Given the description of an element on the screen output the (x, y) to click on. 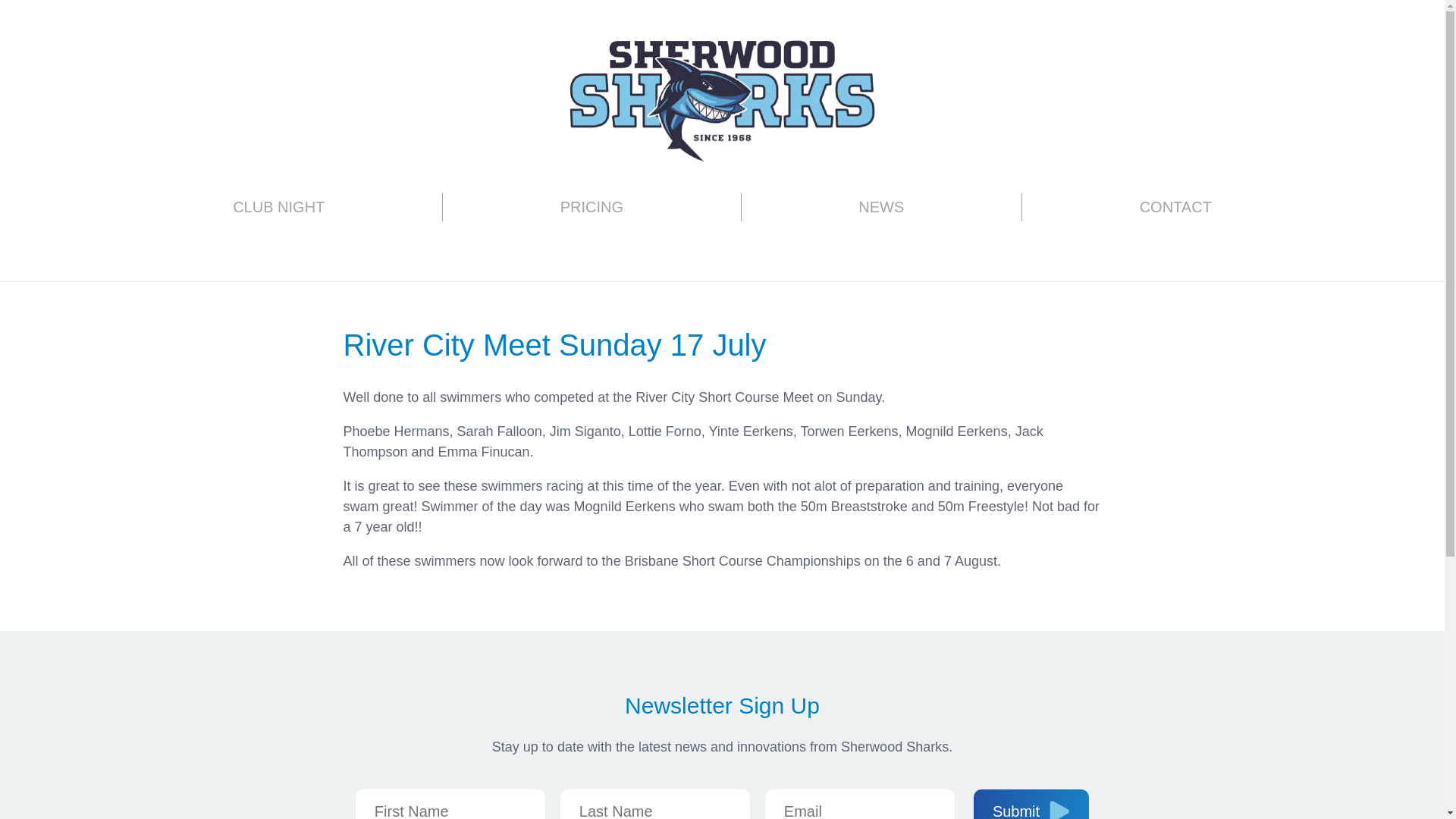
Submit (1031, 804)
CLUB NIGHT (278, 206)
CONTACT (1175, 206)
Submit (1031, 804)
Sherwood Sharks Swim Club (721, 99)
PRICING (591, 206)
NEWS (881, 206)
